Given the description of an element on the screen output the (x, y) to click on. 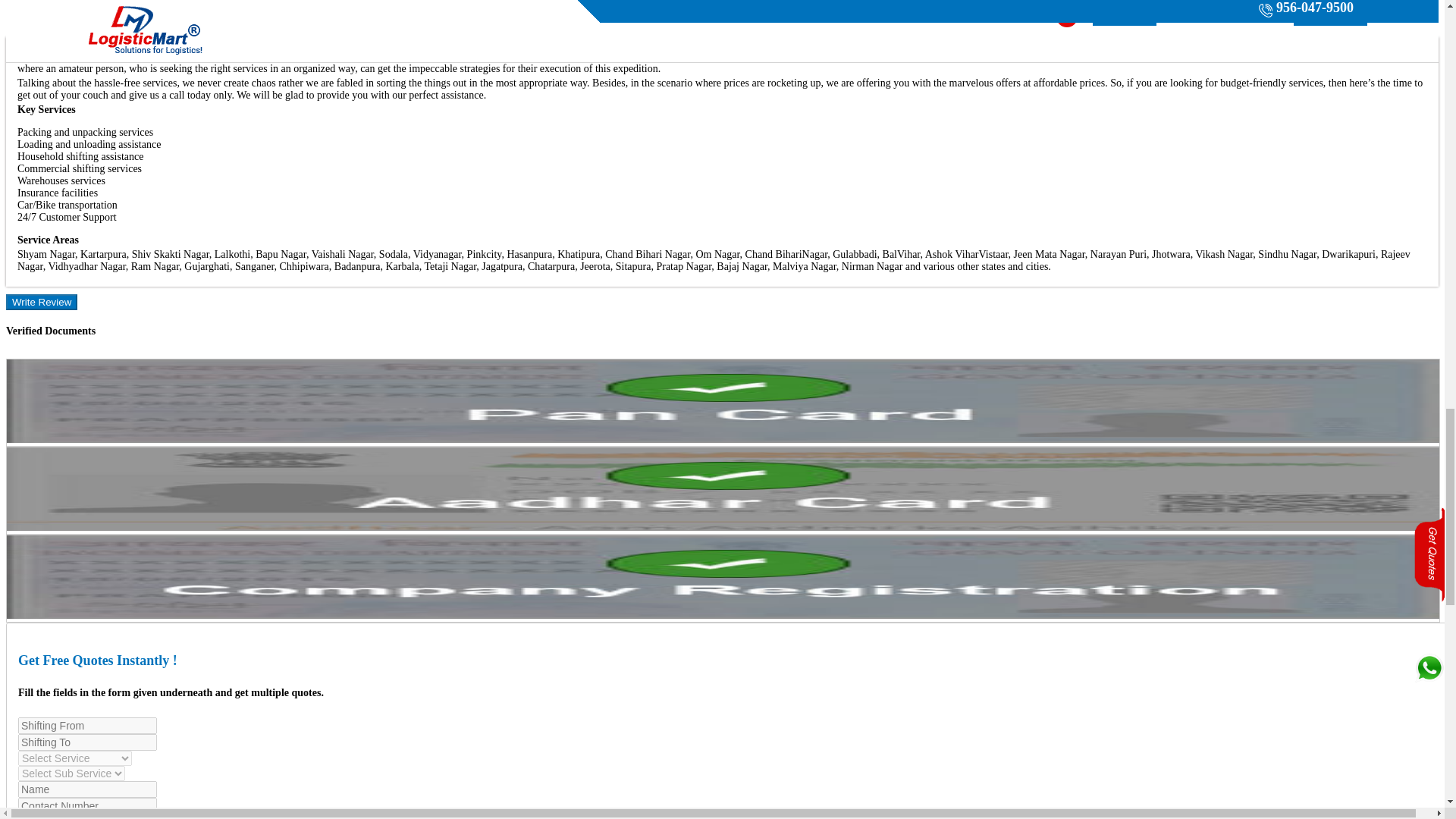
Write Review (41, 302)
professional packers and movers in Jaipur (783, 56)
